Given the description of an element on the screen output the (x, y) to click on. 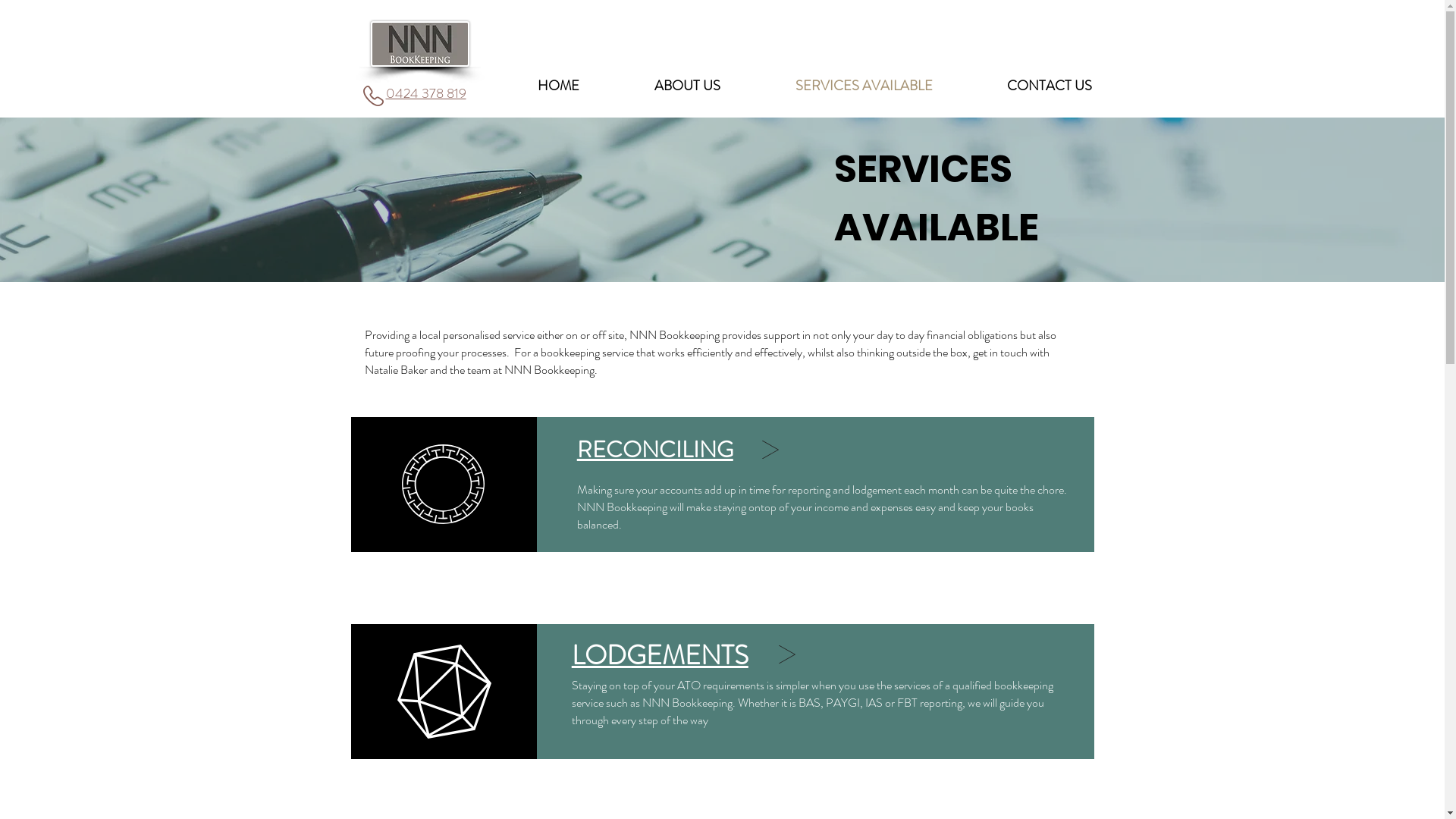
0424 378 819 Element type: text (425, 94)
SERVICES AVAILABLE Element type: text (863, 85)
RECONCILING Element type: text (655, 447)
LODGEMENTS Element type: text (659, 653)
CONTACT US Element type: text (1048, 85)
HOME Element type: text (558, 85)
ABOUT US Element type: text (687, 85)
